Given the description of an element on the screen output the (x, y) to click on. 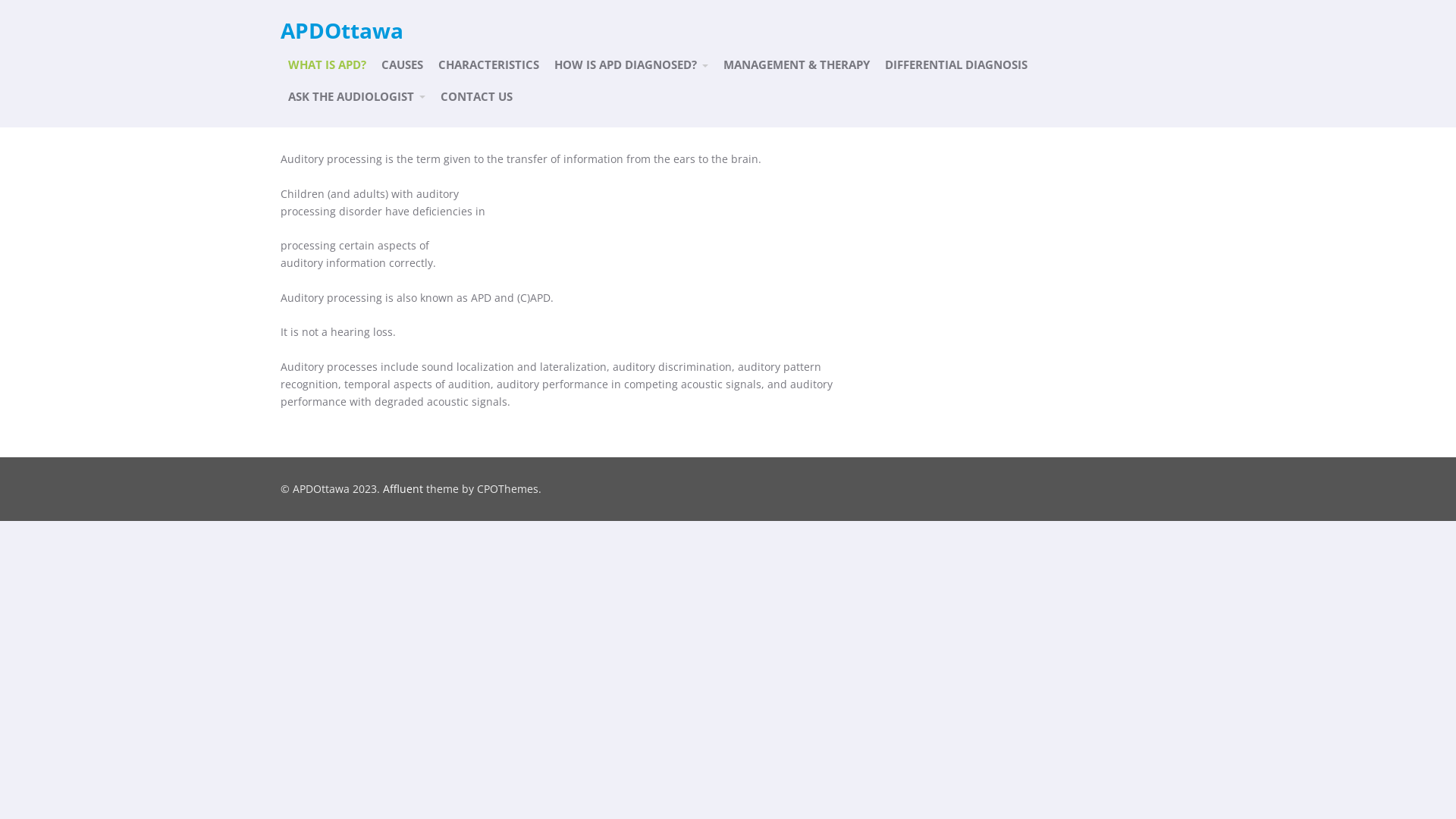
CAUSES Element type: text (401, 65)
APDOttawa Element type: text (341, 29)
WHAT IS APD? Element type: text (326, 65)
Affluent Element type: text (402, 488)
DIFFERENTIAL DIAGNOSIS Element type: text (956, 65)
CHARACTERISTICS Element type: text (488, 65)
HOW IS APD DIAGNOSED? Element type: text (630, 65)
CONTACT US Element type: text (476, 96)
MANAGEMENT & THERAPY Element type: text (796, 65)
ASK THE AUDIOLOGIST Element type: text (356, 96)
